Given the description of an element on the screen output the (x, y) to click on. 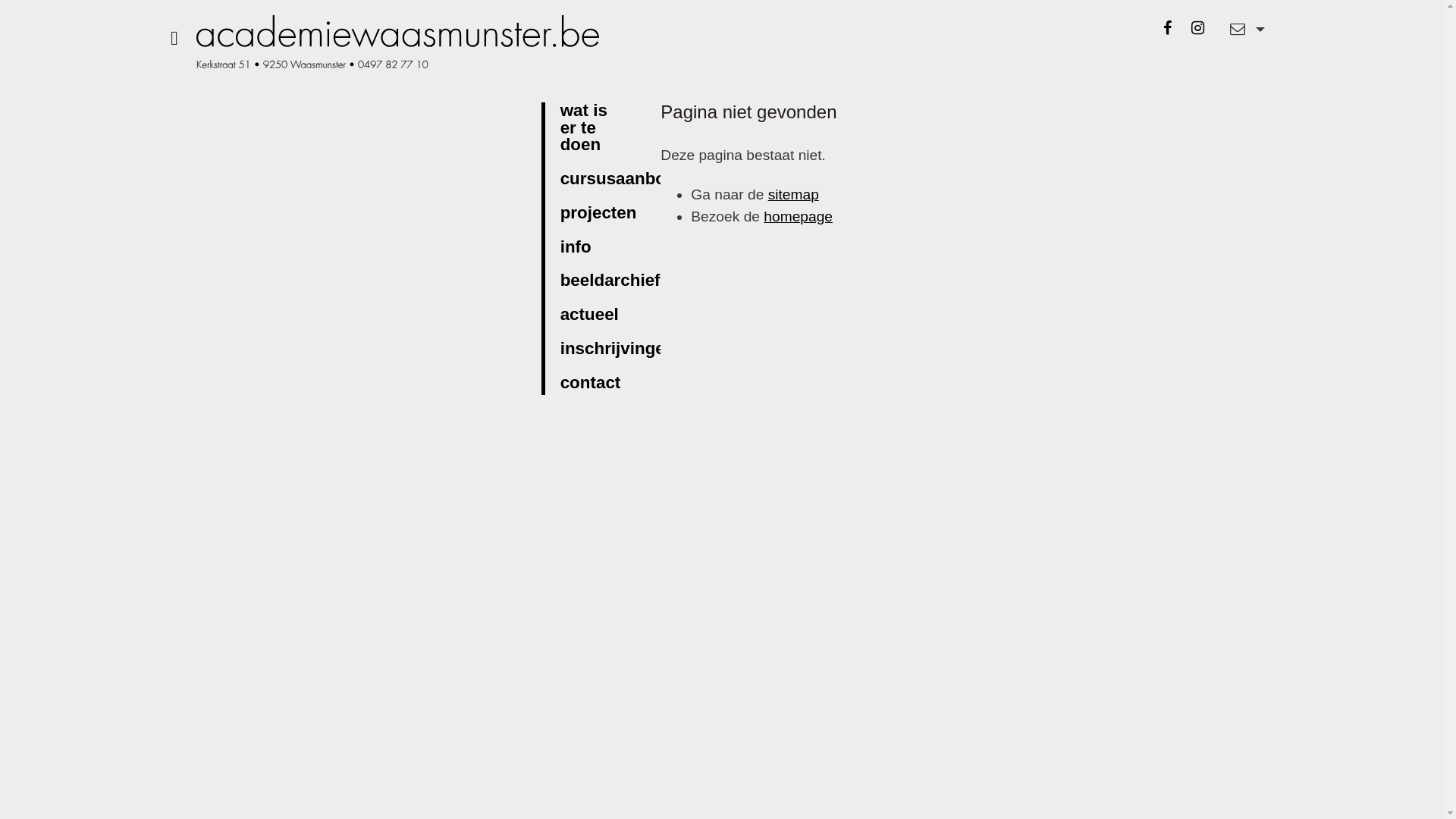
info Element type: text (581, 247)
sitemap Element type: text (793, 194)
wat is er te doen Element type: text (599, 128)
cursusaanbod Element type: text (623, 179)
homepage Element type: text (797, 216)
contact Element type: text (596, 383)
inschrijvingen Element type: text (623, 349)
projecten Element type: text (604, 213)
beeldarchief Element type: text (615, 281)
actueel Element type: text (595, 315)
